Given the description of an element on the screen output the (x, y) to click on. 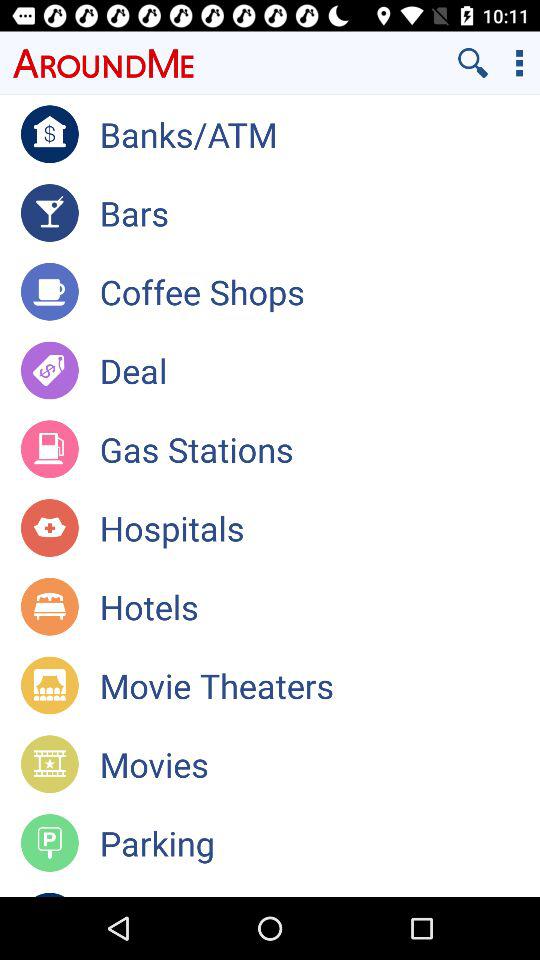
choose the app above the movies app (319, 685)
